Given the description of an element on the screen output the (x, y) to click on. 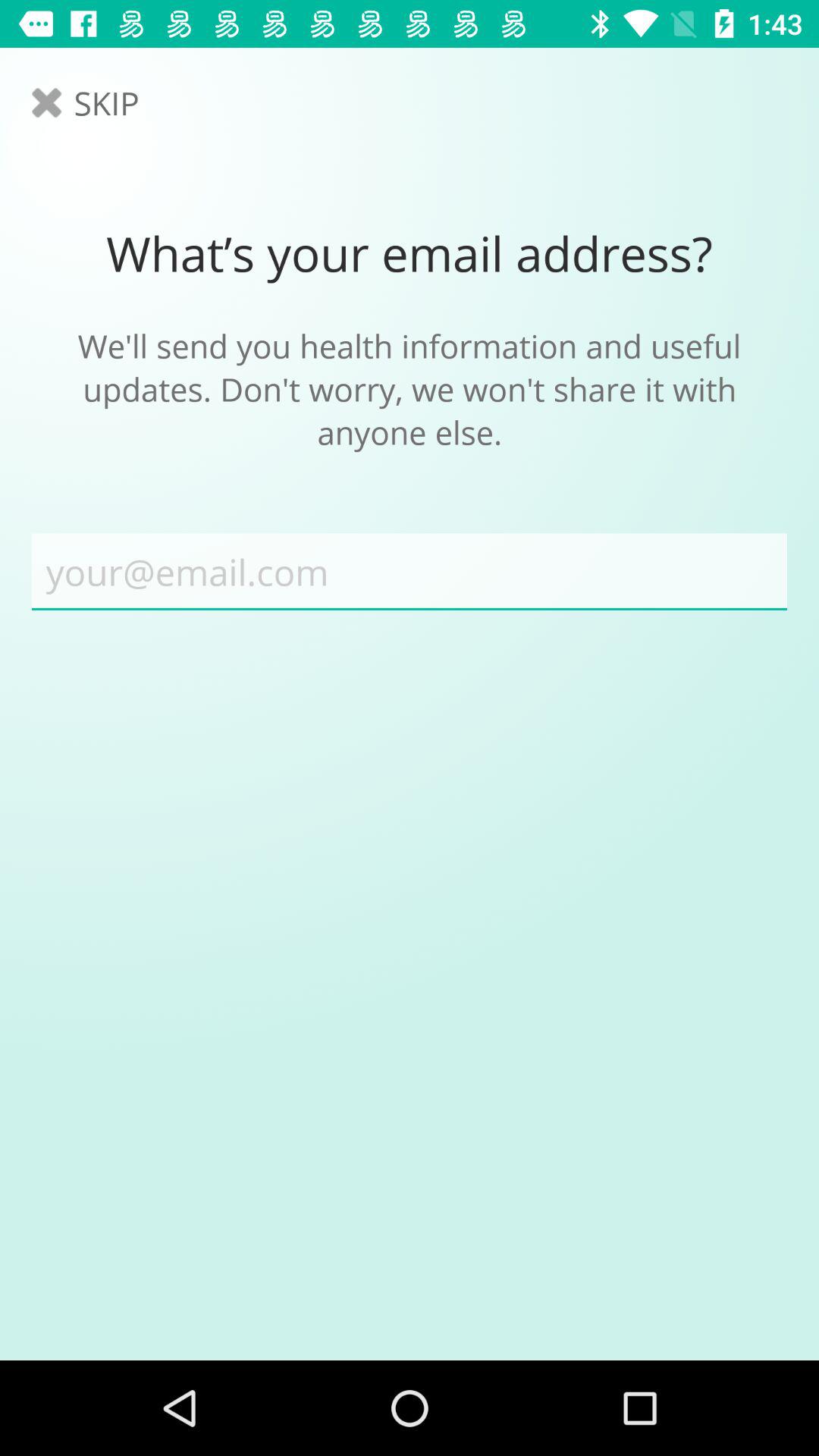
launch icon at the center (409, 571)
